Given the description of an element on the screen output the (x, y) to click on. 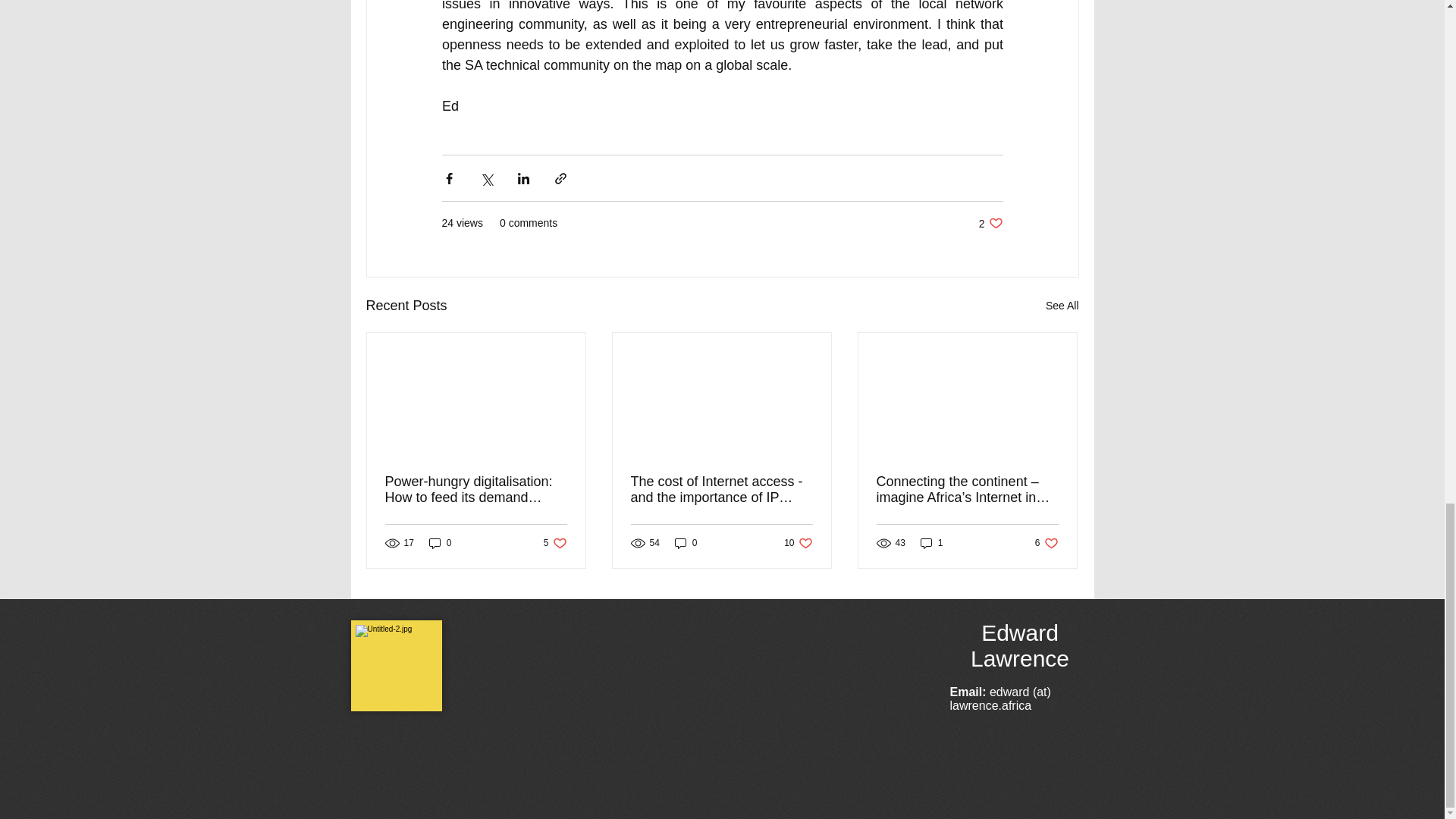
0 (685, 543)
1 (931, 543)
0 (1046, 543)
See All (440, 543)
